Given the description of an element on the screen output the (x, y) to click on. 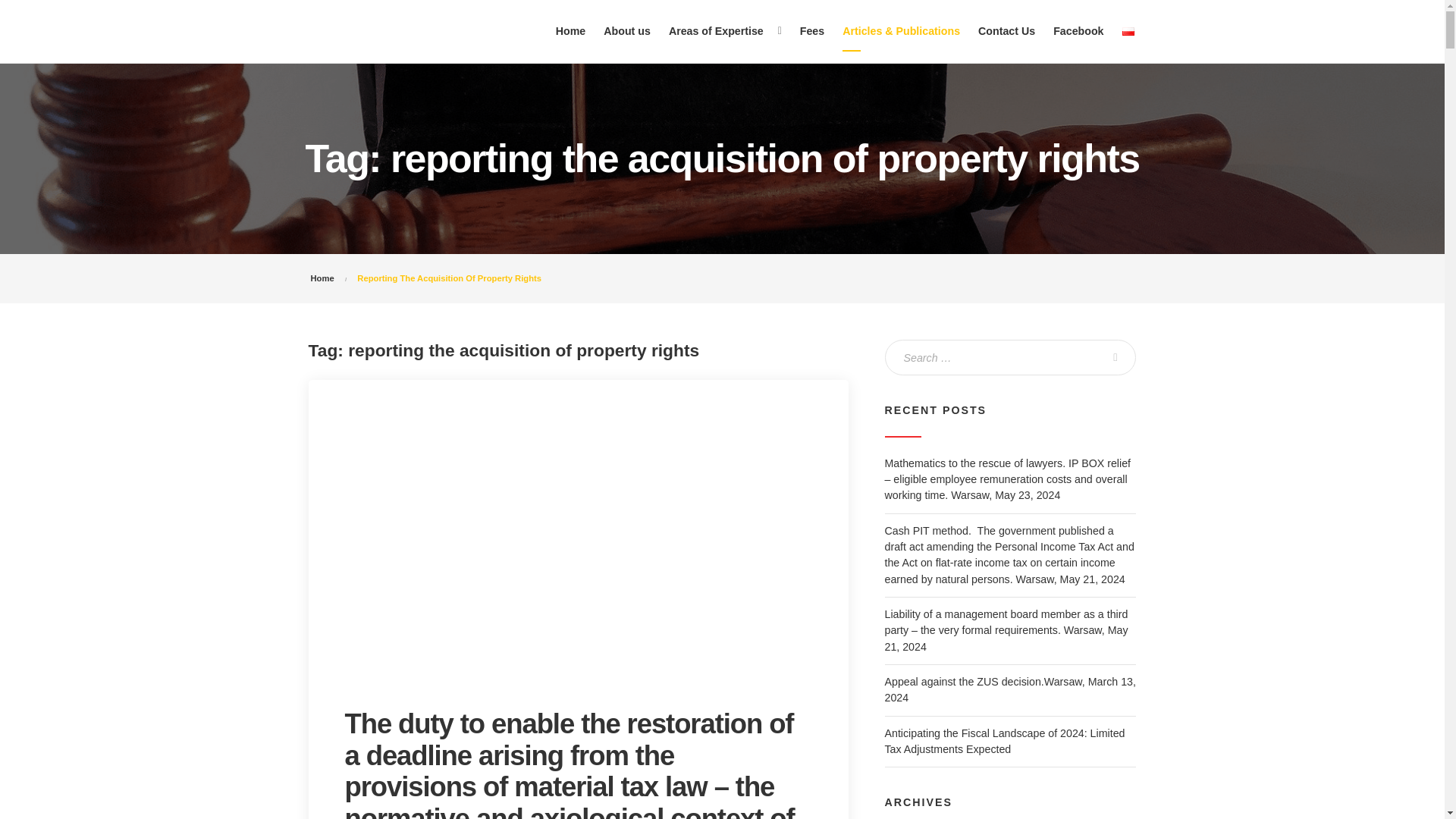
Facebook (1077, 31)
Areas of Expertise (716, 31)
About us (626, 31)
Home (322, 277)
Home (322, 277)
Fees (811, 31)
Contact Us (1006, 31)
Home (571, 31)
